Given the description of an element on the screen output the (x, y) to click on. 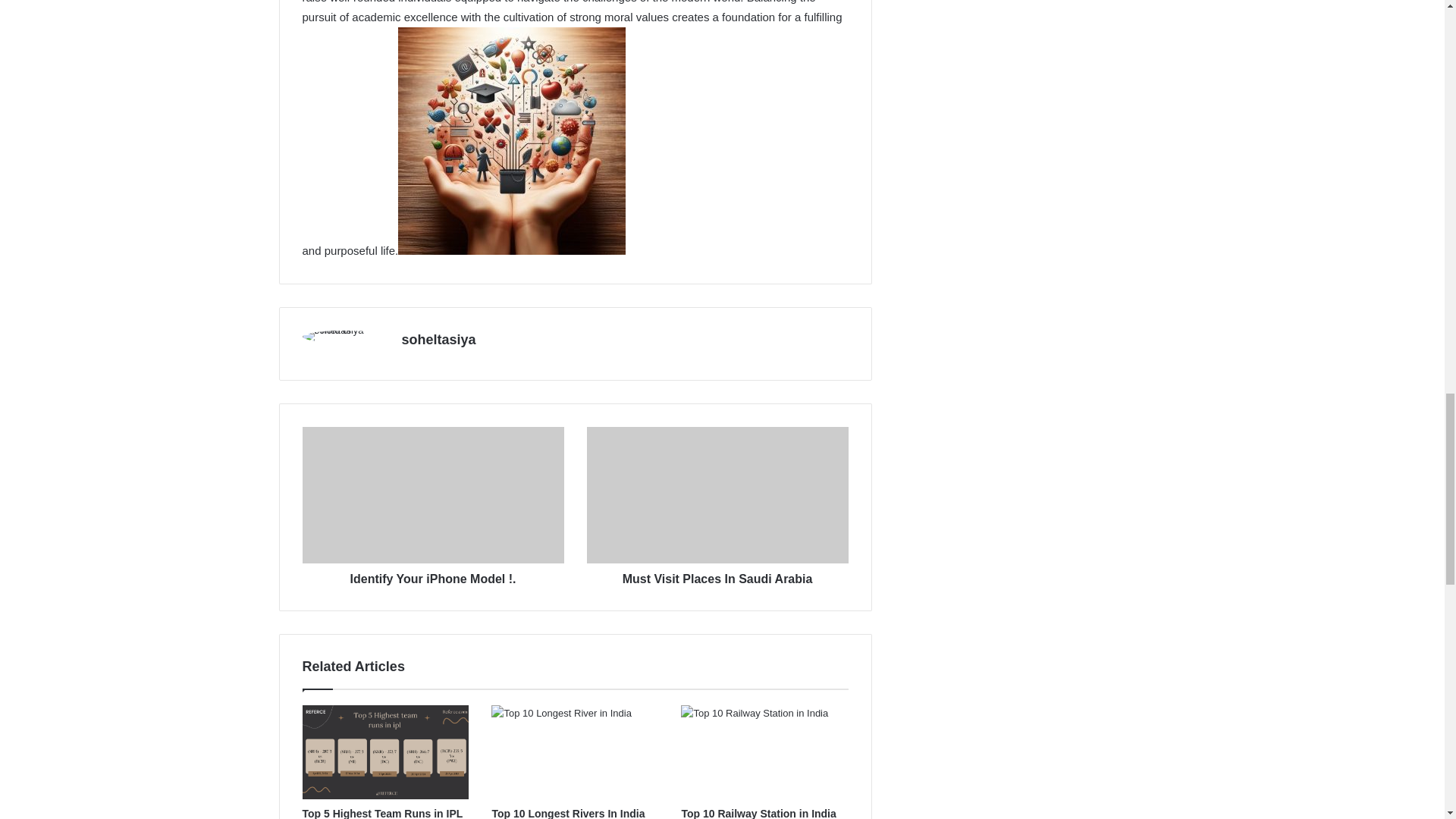
Identify Your iPhone Model !. (432, 575)
Top 5 Highest Team Runs in IPL History 2024 (382, 813)
Must Visit Places In Saudi Arabia (717, 575)
soheltasiya (438, 339)
